Given the description of an element on the screen output the (x, y) to click on. 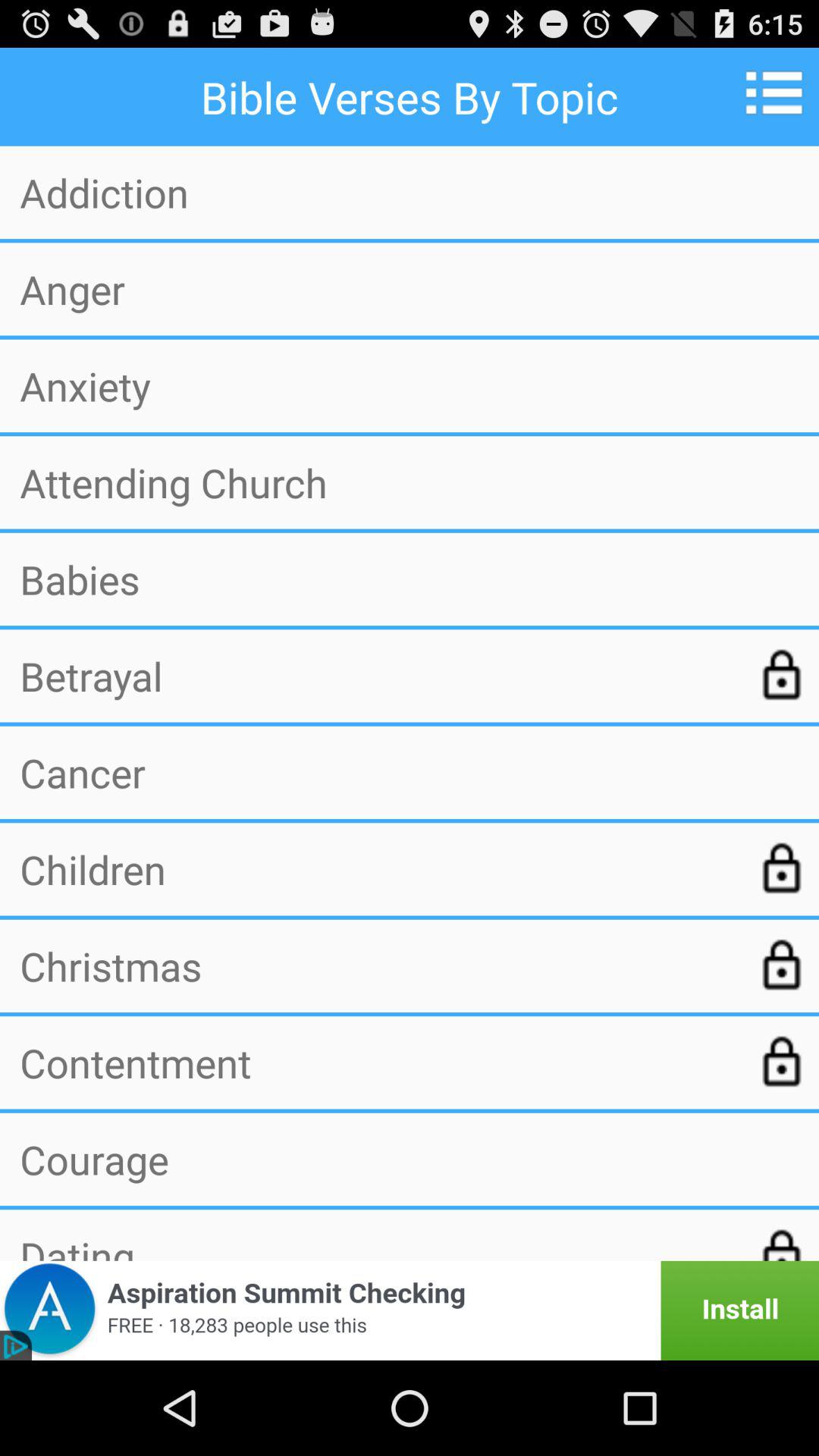
click item below christmas icon (376, 1062)
